Given the description of an element on the screen output the (x, y) to click on. 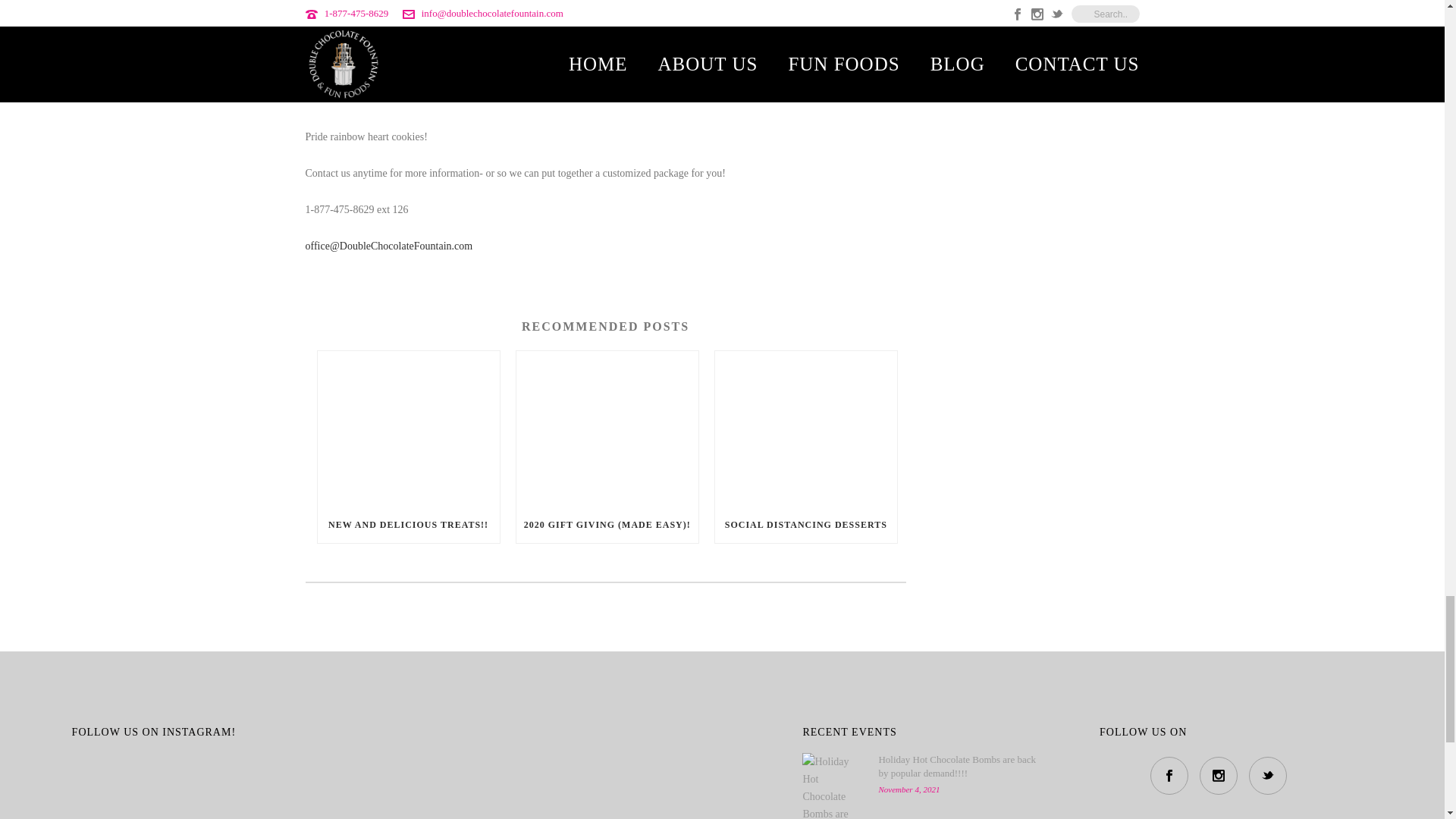
Social Distancing Desserts (805, 428)
Follow Us on twitter (1268, 775)
Follow Us on facebook (1169, 775)
New and Delicious treats!! (408, 428)
Follow Us on instagram (1218, 775)
NEW AND DELICIOUS TREATS!! (408, 524)
Holiday Hot Chocolate Bombs are back by popular demand!!!! (832, 785)
